Given the description of an element on the screen output the (x, y) to click on. 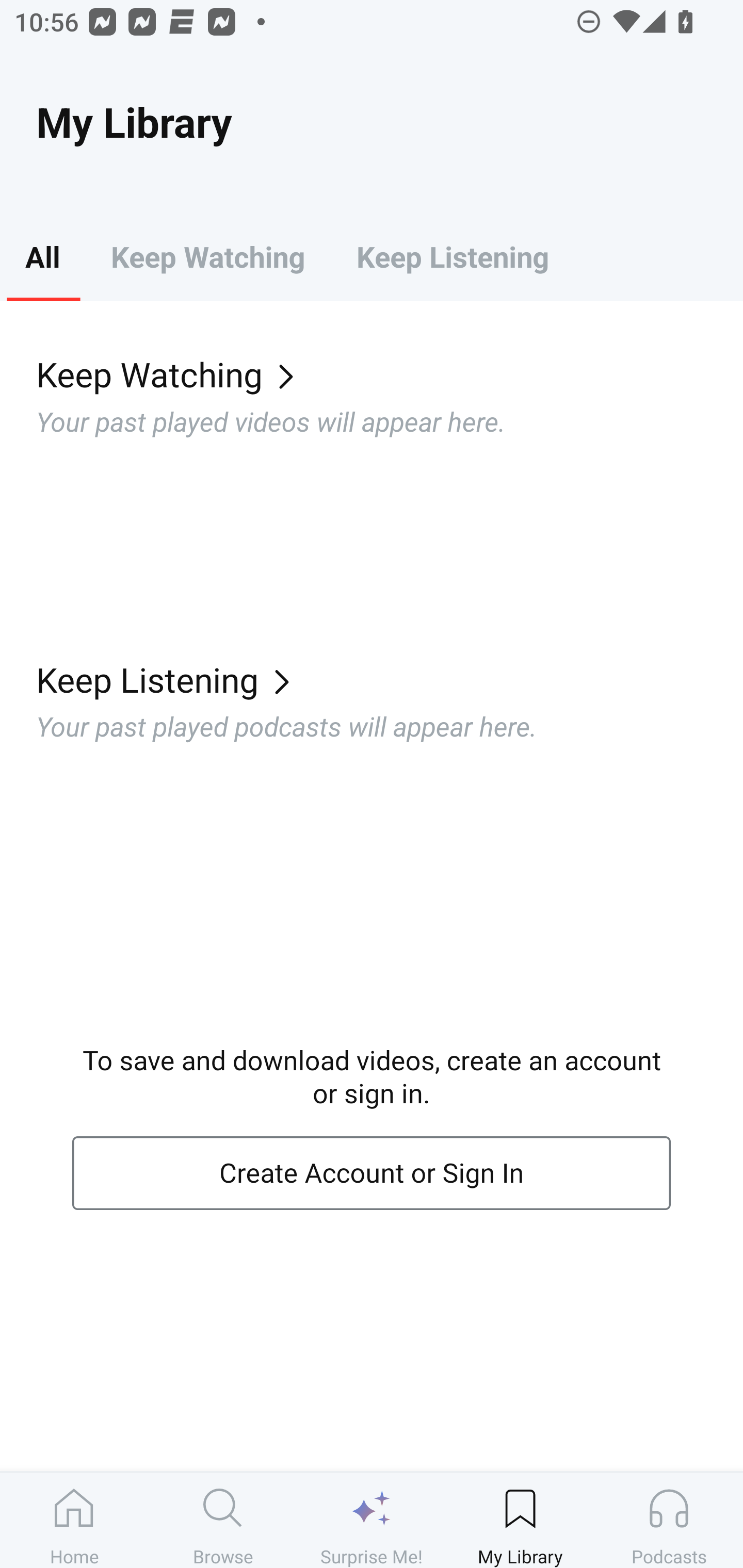
All (42, 256)
Keep Watching (207, 256)
Keep Listening (452, 256)
Keep Watching (389, 373)
Keep Listening (389, 679)
Create Account or Sign In (371, 1173)
Home (74, 1520)
Browse (222, 1520)
Surprise Me! (371, 1520)
My Library (519, 1520)
Podcasts (668, 1520)
